Given the description of an element on the screen output the (x, y) to click on. 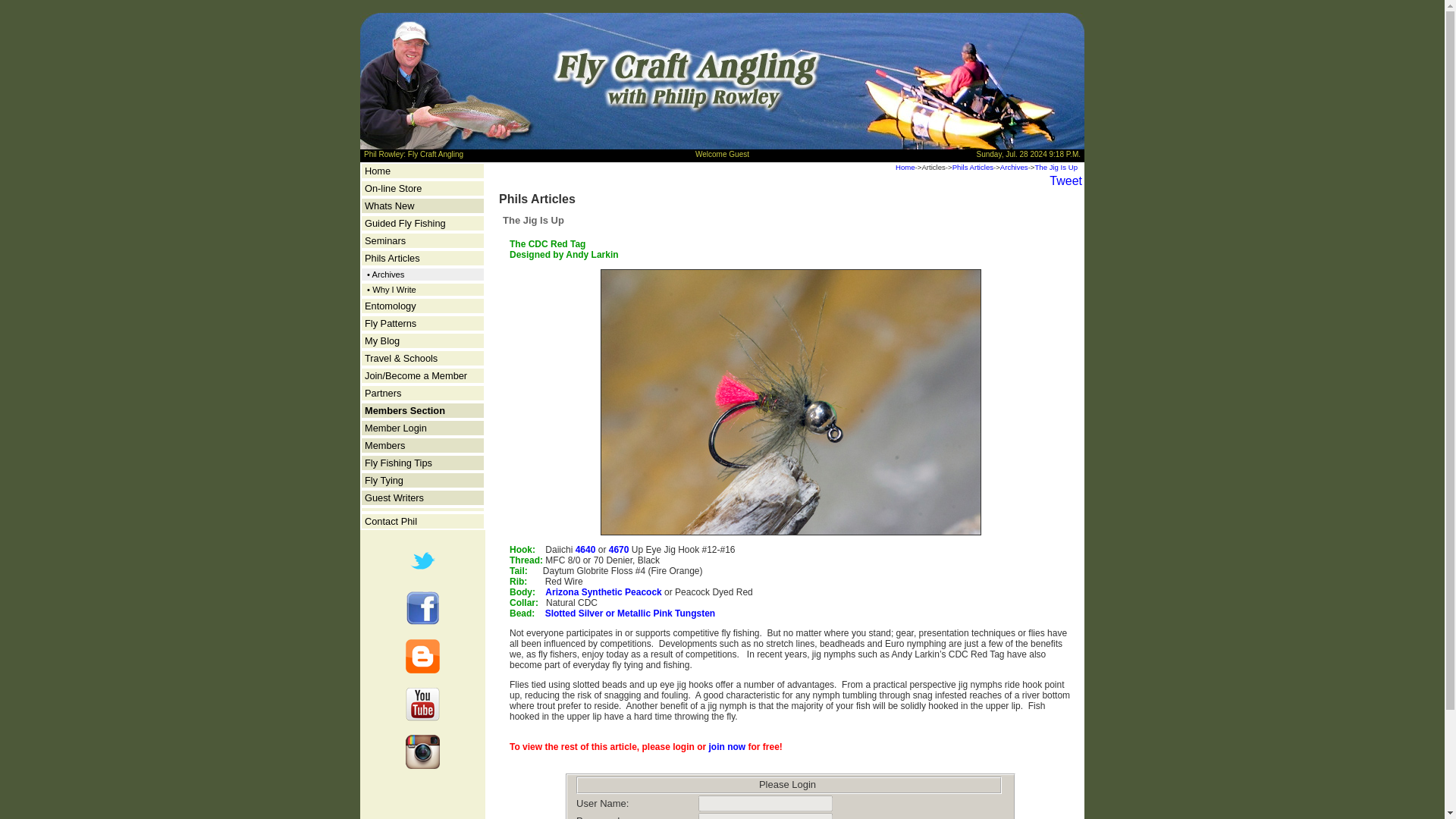
Entomology (390, 306)
Contact Phil (390, 521)
Home (377, 170)
Phils Articles (392, 257)
join now (727, 747)
4640 (586, 549)
Members (384, 445)
Fly Tying (384, 480)
The Jig Is Up (1055, 166)
Guided Fly Fishing (405, 223)
Seminars (385, 240)
Member Login (395, 428)
Slotted Silver or Metallic Pink Tungsten (629, 613)
Arizona Synthetic Peacock (602, 592)
Fly Fishing Tips (398, 462)
